Given the description of an element on the screen output the (x, y) to click on. 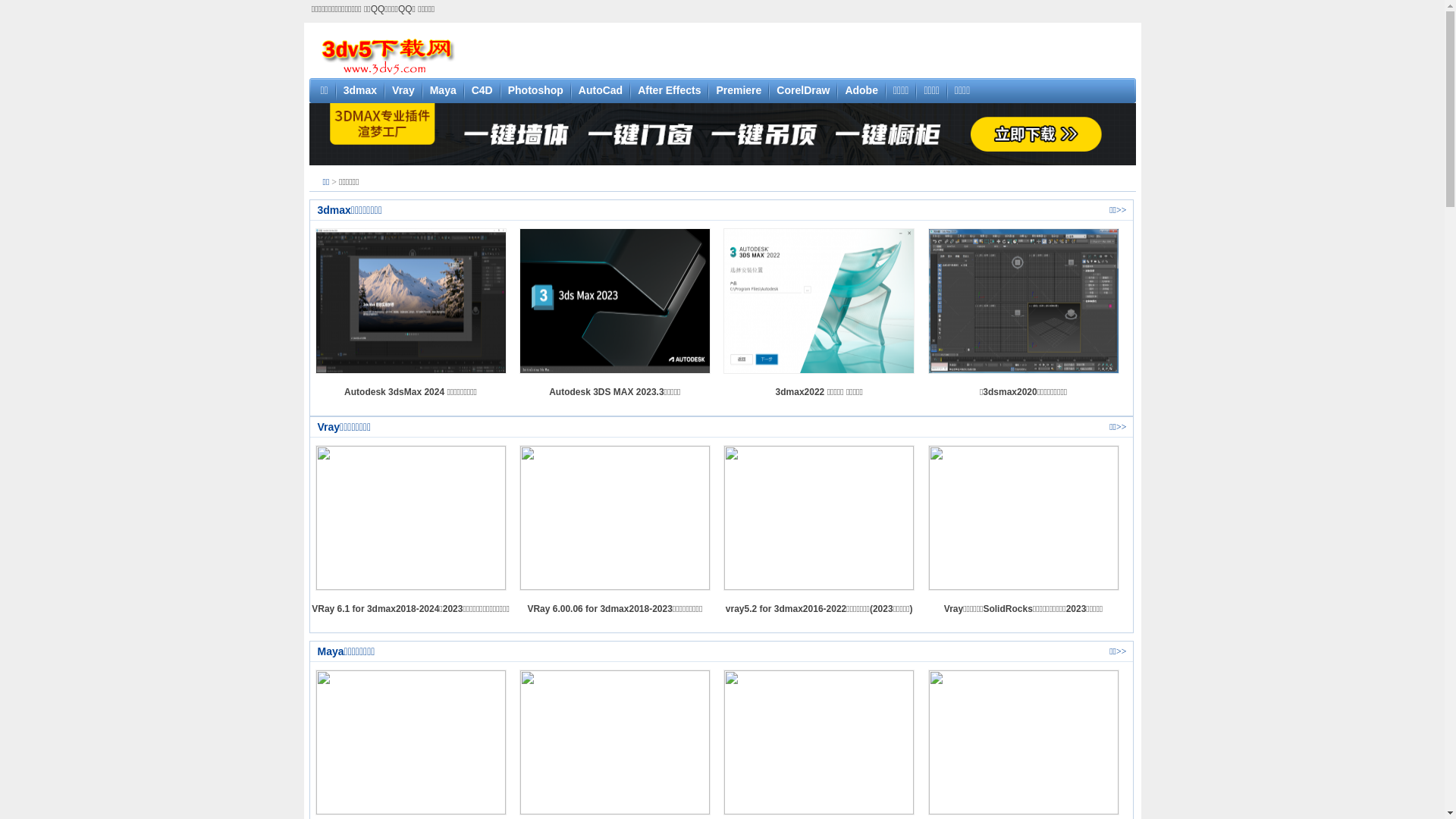
Premiere Element type: text (738, 90)
Vray Element type: text (403, 90)
Adobe Element type: text (861, 90)
AutoCad Element type: text (600, 90)
After Effects Element type: text (668, 90)
Photoshop Element type: text (535, 90)
CorelDraw Element type: text (802, 90)
C4D Element type: text (481, 90)
Maya Element type: text (442, 90)
3dmax Element type: text (359, 90)
  Element type: hover (722, 133)
